Given the description of an element on the screen output the (x, y) to click on. 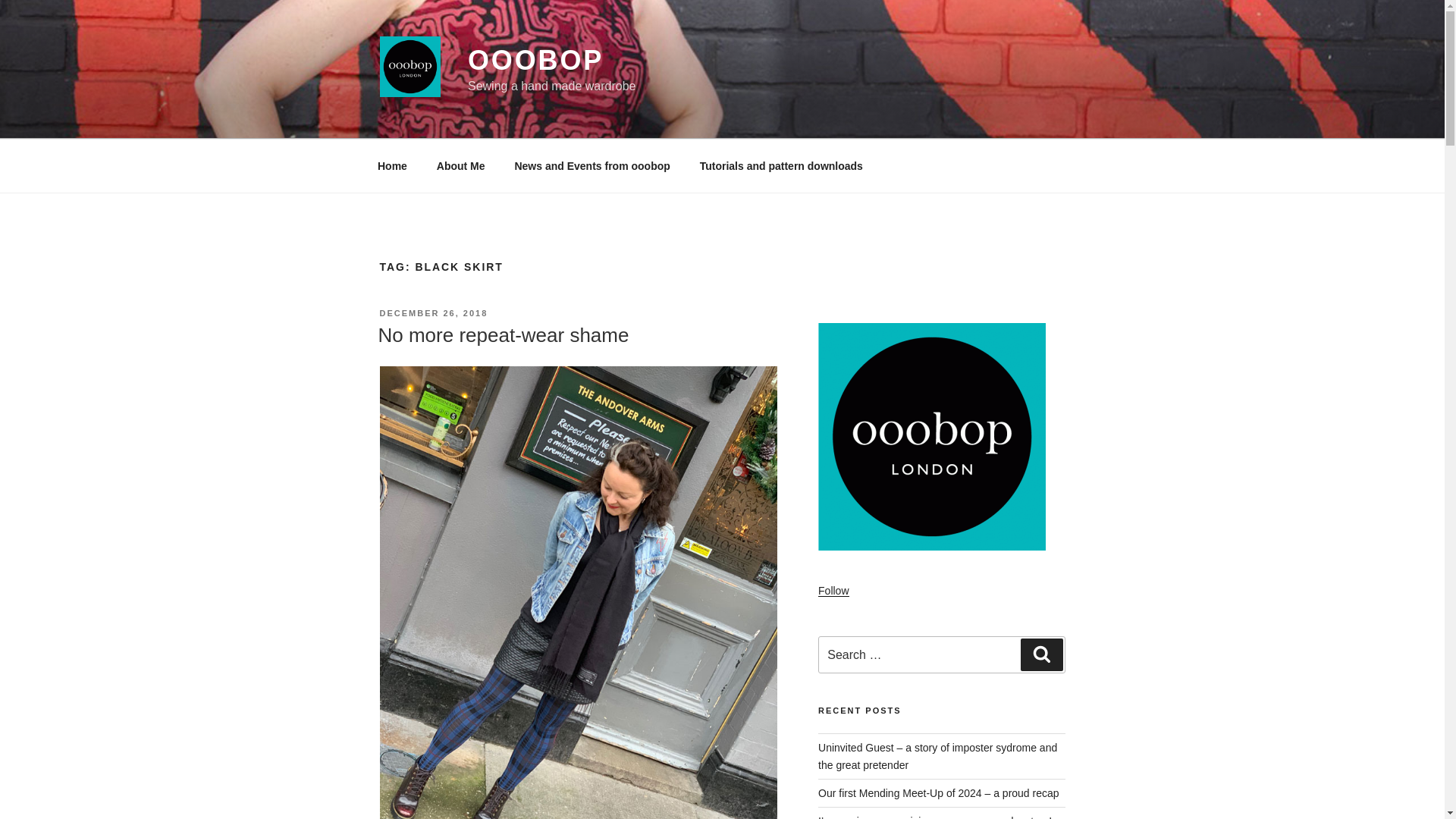
About Me (460, 165)
DECEMBER 26, 2018 (432, 312)
Home (392, 165)
Search (1041, 654)
Tutorials and pattern downloads (780, 165)
Follow (833, 590)
Tutorials and pattern downloads (780, 165)
No more repeat-wear shame (502, 334)
Home (392, 165)
